Given the description of an element on the screen output the (x, y) to click on. 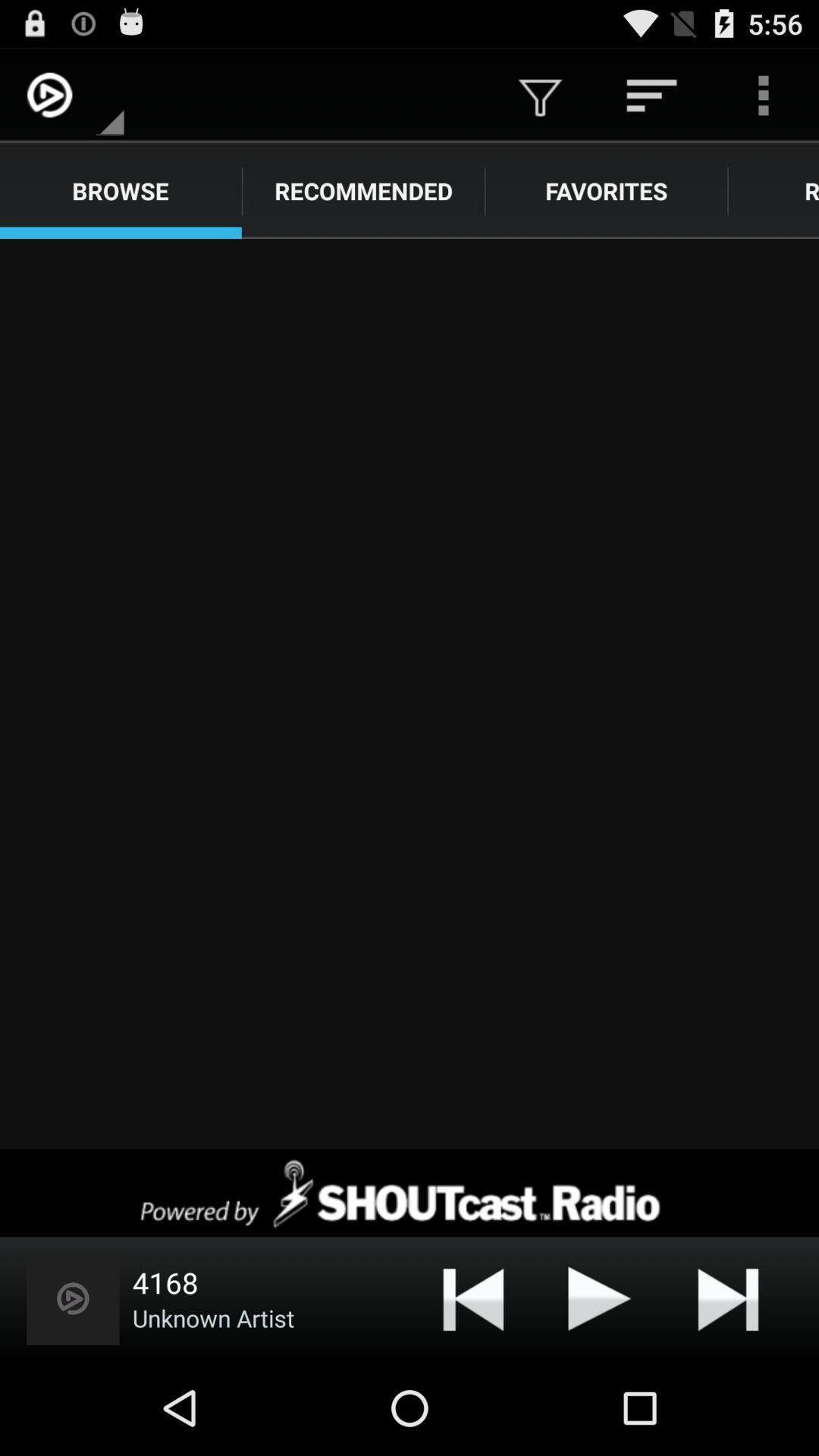
next track (728, 1298)
